Given the description of an element on the screen output the (x, y) to click on. 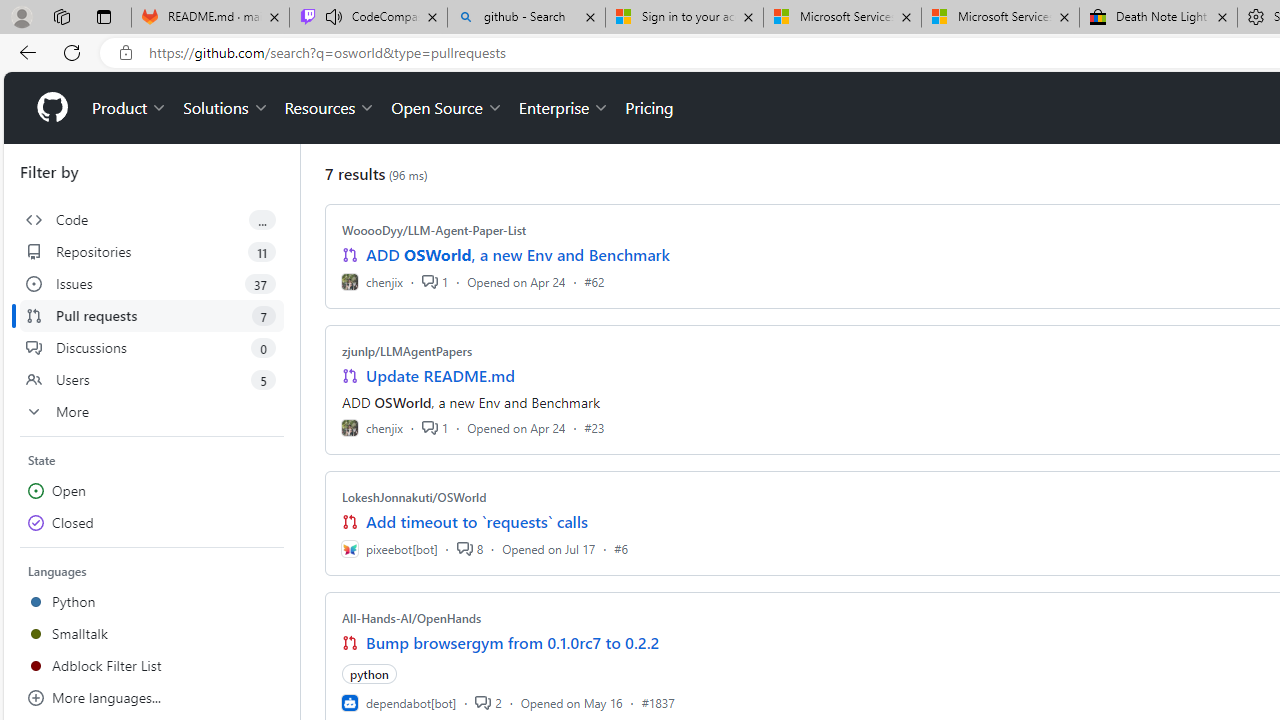
Bump browsergym from 0.1.0rc7 to 0.2.2 (513, 642)
Solutions (225, 107)
WooooDyy/LLM-Agent-Paper-List (434, 230)
dependabot[bot] (398, 702)
Resources (330, 107)
More (152, 411)
